Given the description of an element on the screen output the (x, y) to click on. 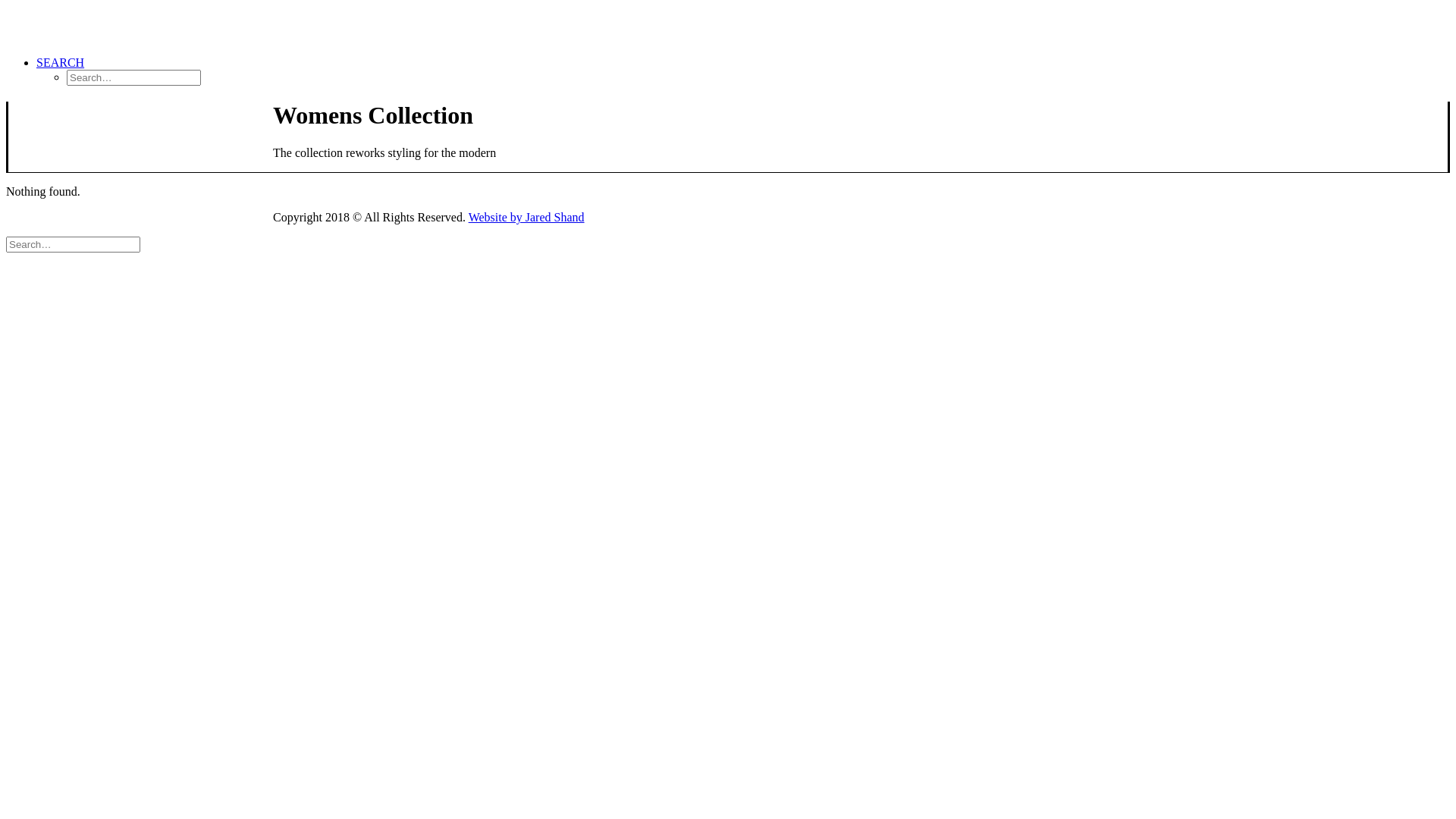
Search for: Element type: hover (133, 77)
SEARCH Element type: text (60, 62)
Search for: Element type: hover (73, 244)
Website by Jared Shand Element type: text (526, 216)
